Given the description of an element on the screen output the (x, y) to click on. 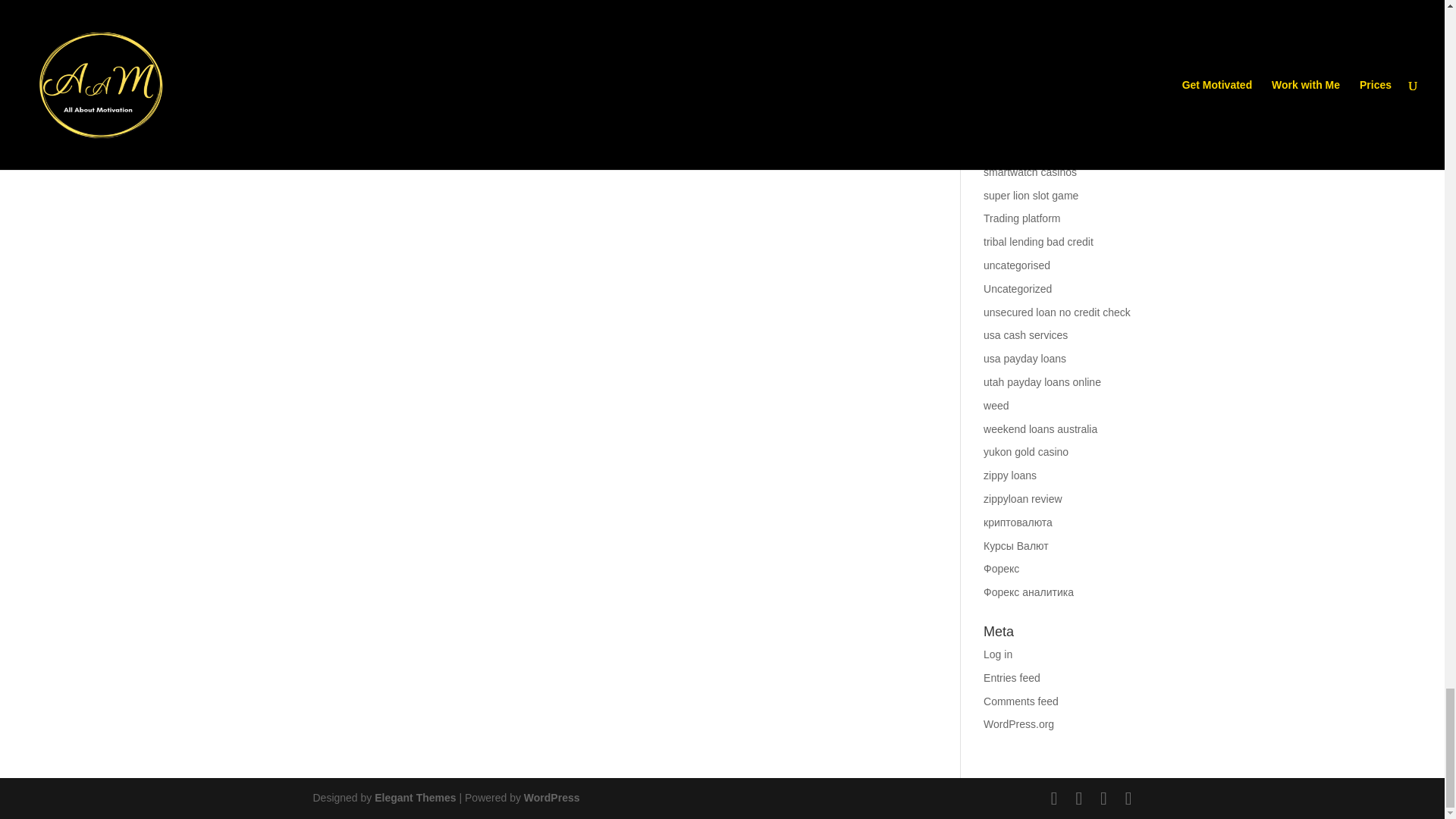
Premium WordPress Themes (414, 797)
